Given the description of an element on the screen output the (x, y) to click on. 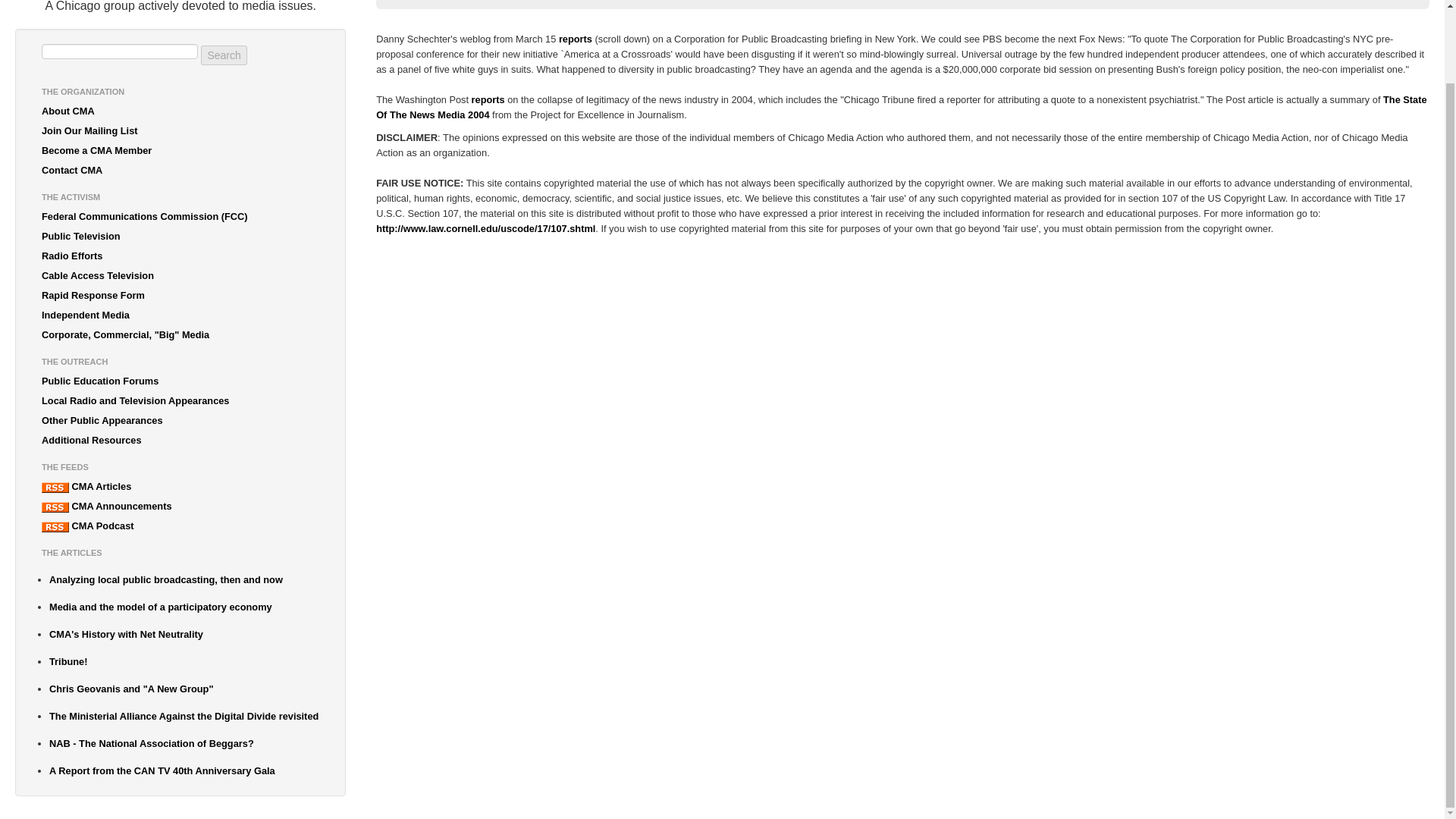
CMA Podcast (180, 526)
Rapid Response Form (180, 295)
Search (223, 55)
CMA's History with Net Neutrality (183, 634)
Chris Geovanis and "A New Group" (183, 689)
Corporate, Commercial, "Big" Media (180, 334)
Become a CMA Member (180, 150)
Public Television (180, 236)
Search (223, 55)
CMA Announcements (180, 506)
Contact CMA (180, 170)
CMA Articles (180, 486)
Other Public Appearances (180, 420)
Cable Access Television (180, 275)
